Given the description of an element on the screen output the (x, y) to click on. 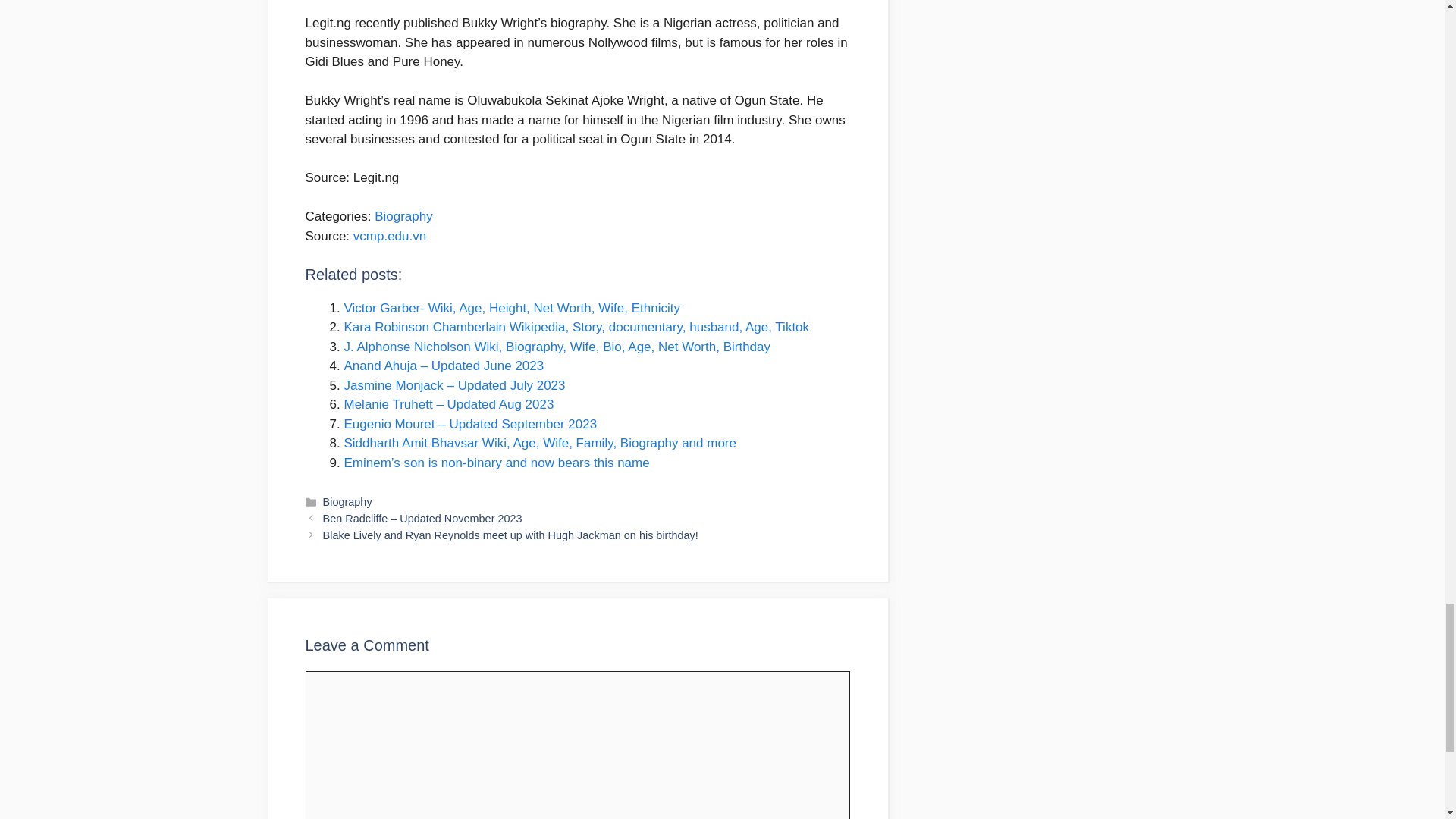
Victor Garber- Wiki, Age, Height, Net Worth, Wife, Ethnicity (511, 308)
Biography (347, 501)
Victor Garber- Wiki, Age, Height, Net Worth, Wife, Ethnicity (511, 308)
Biography (403, 216)
vcmp.edu.vn (389, 236)
